Given the description of an element on the screen output the (x, y) to click on. 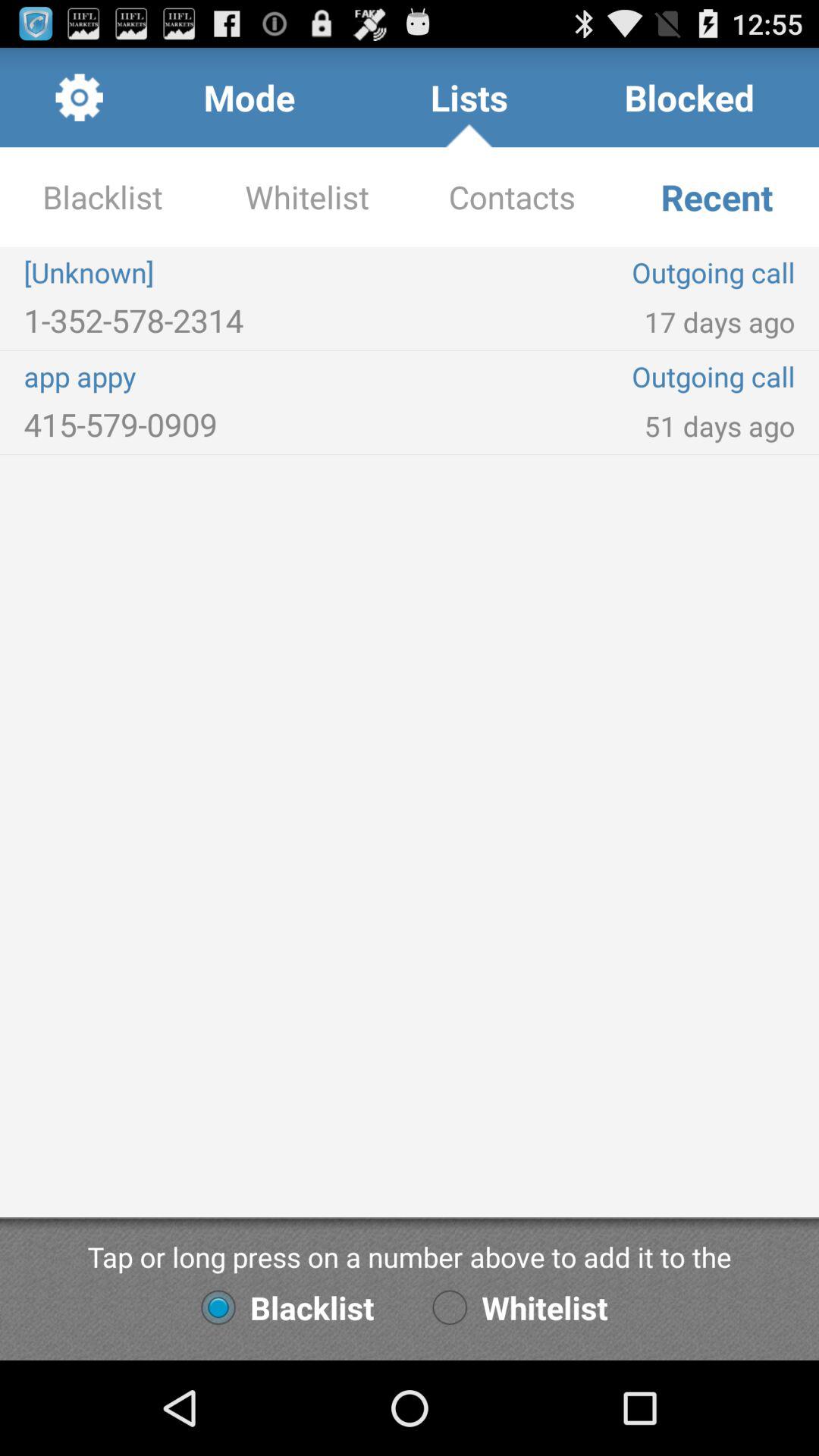
turn on item to the left of lists item (249, 97)
